Given the description of an element on the screen output the (x, y) to click on. 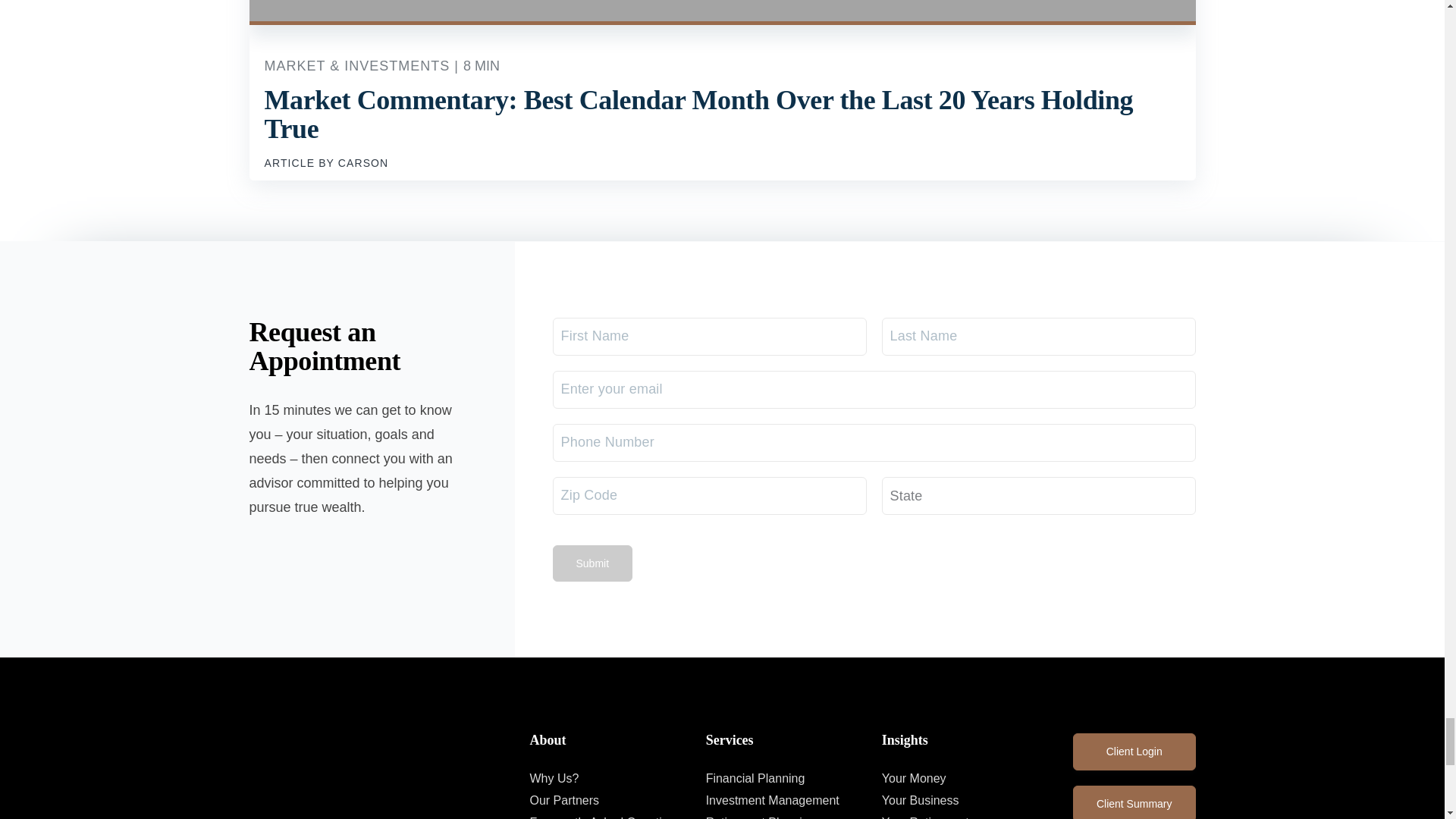
Submit (591, 563)
